Given the description of an element on the screen output the (x, y) to click on. 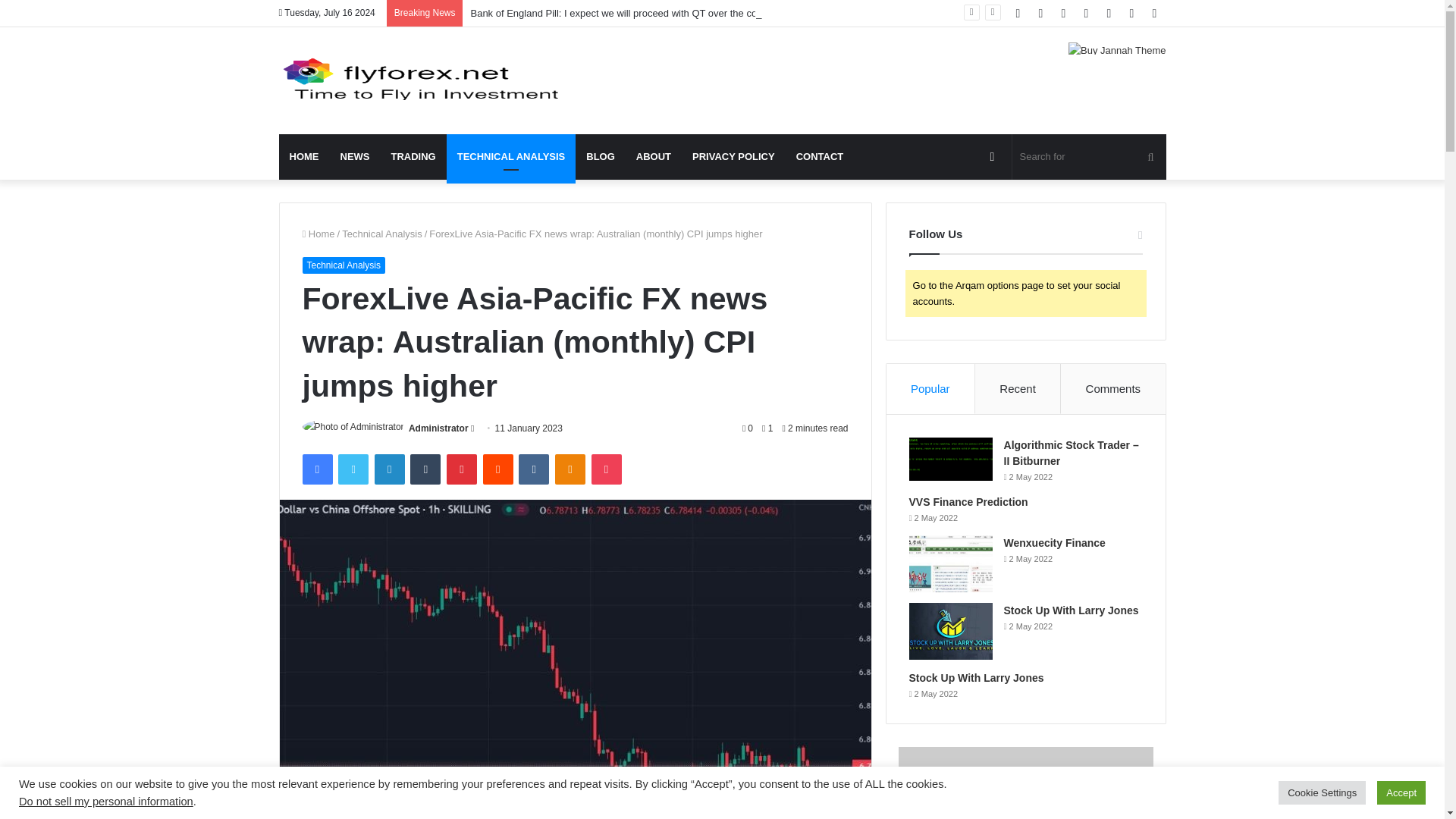
LinkedIn (389, 469)
Technical Analysis (382, 233)
LinkedIn (389, 469)
VKontakte (533, 469)
Pocket (606, 469)
TRADING (413, 156)
Administrator (438, 428)
CONTACT (820, 156)
Reddit (498, 469)
HOME (304, 156)
Tumblr (425, 469)
Tumblr (425, 469)
TECHNICAL ANALYSIS (511, 156)
Home (317, 233)
